Given the description of an element on the screen output the (x, y) to click on. 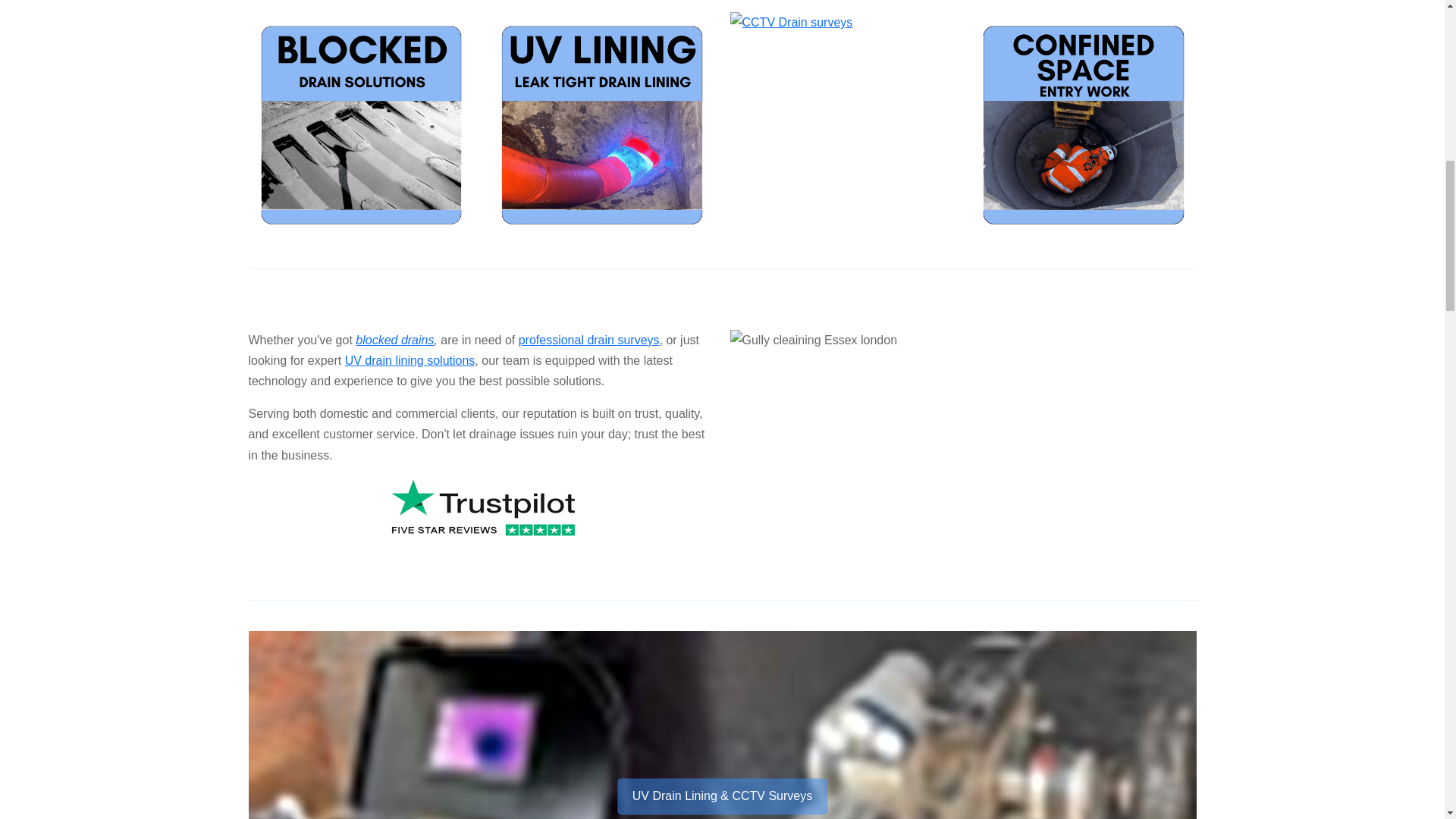
UV drain lining solutions (410, 359)
professional drain surveys (588, 339)
blocked drains (394, 339)
